Given the description of an element on the screen output the (x, y) to click on. 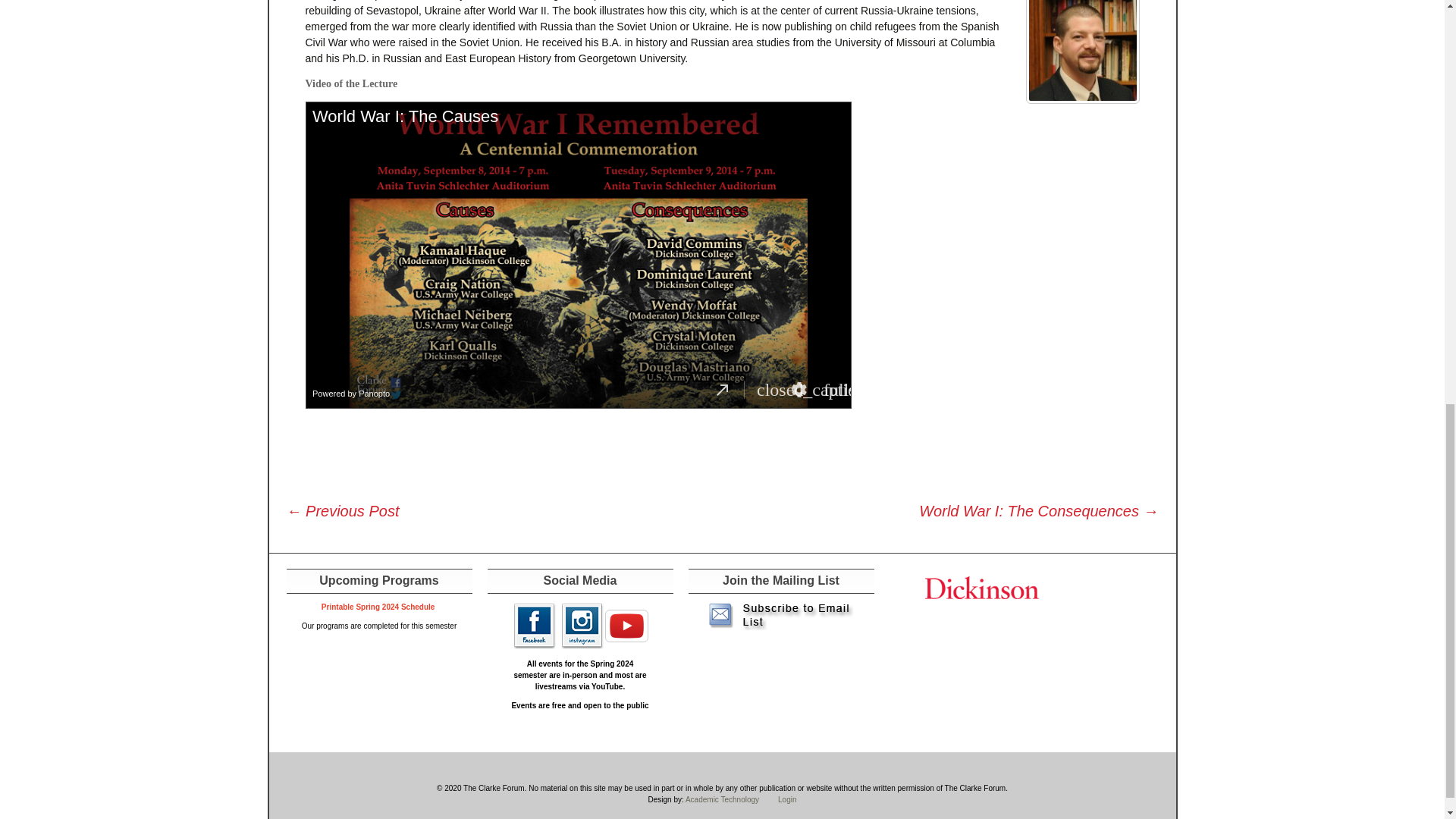
Printable Spring 2024 Schedule  (378, 606)
